Given the description of an element on the screen output the (x, y) to click on. 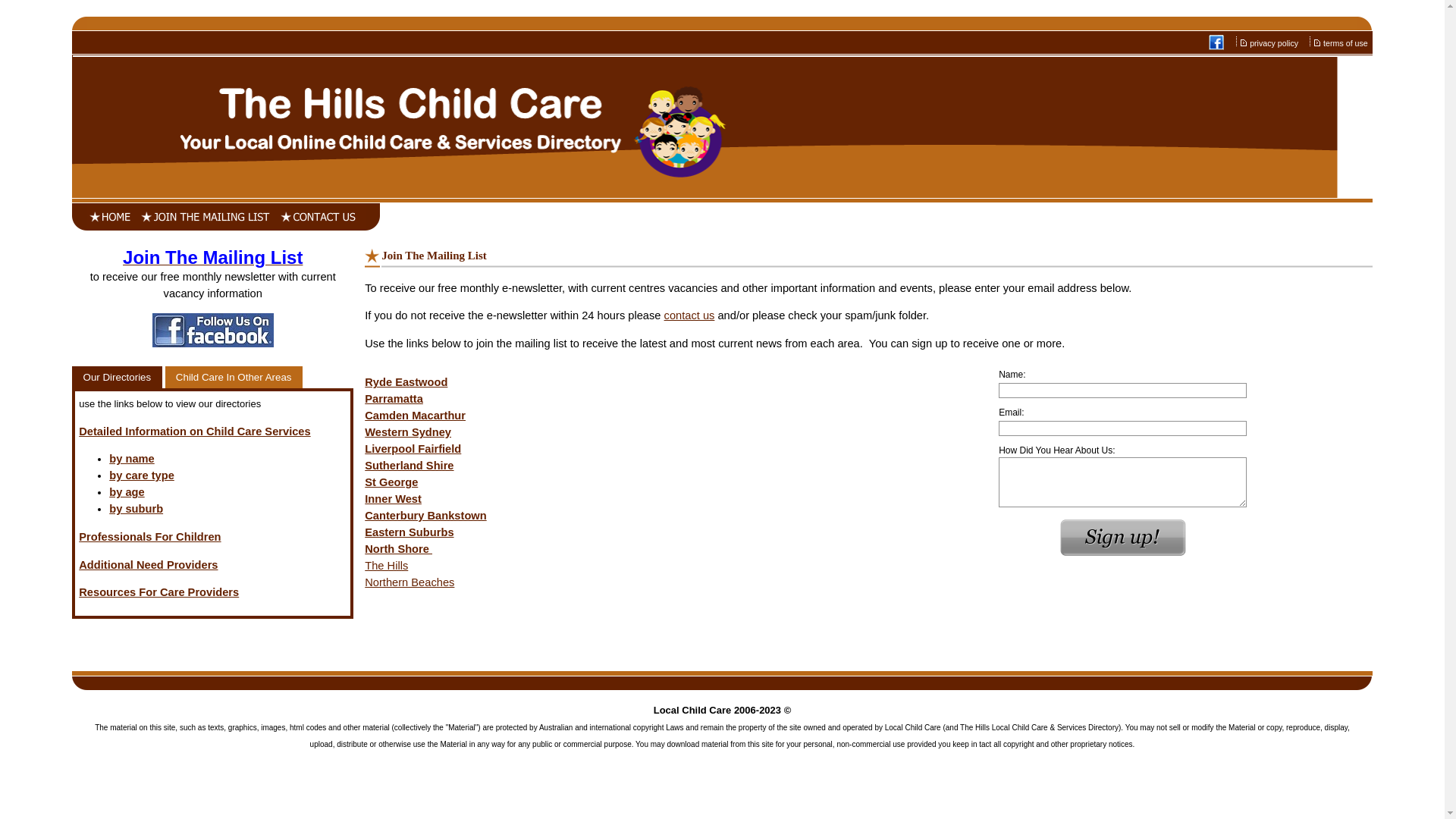
Professionals For Children Element type: text (149, 536)
Child Care In Other Areas Element type: text (233, 377)
St George Element type: text (390, 482)
Sutherland Shire Element type: text (408, 465)
Additional Need Providers Element type: text (147, 564)
terms of use Element type: text (1346, 43)
Liverpool Fairfield Element type: text (412, 448)
The Hills Element type: text (385, 565)
Northern Beaches Element type: text (409, 582)
Join The Mailing List Element type: text (212, 260)
Resources For Care Providers Element type: text (158, 592)
North Shore  Element type: text (398, 548)
by care type Element type: text (141, 475)
Canterbury Bankstown Element type: text (425, 515)
Inner West Element type: text (392, 498)
privacy policy Element type: text (1274, 43)
Ryde Eastwood
Parramatta Element type: text (405, 390)
Western Sydney Element type: text (407, 432)
Our Directories Element type: text (116, 377)
Eastern Suburbs Element type: text (408, 532)
Camden Macarthur Element type: text (414, 415)
Detailed Information on Child Care Services Element type: text (194, 431)
by age Element type: text (126, 492)
by suburb Element type: text (136, 508)
by name Element type: text (131, 458)
contact us Element type: text (689, 315)
